Given the description of an element on the screen output the (x, y) to click on. 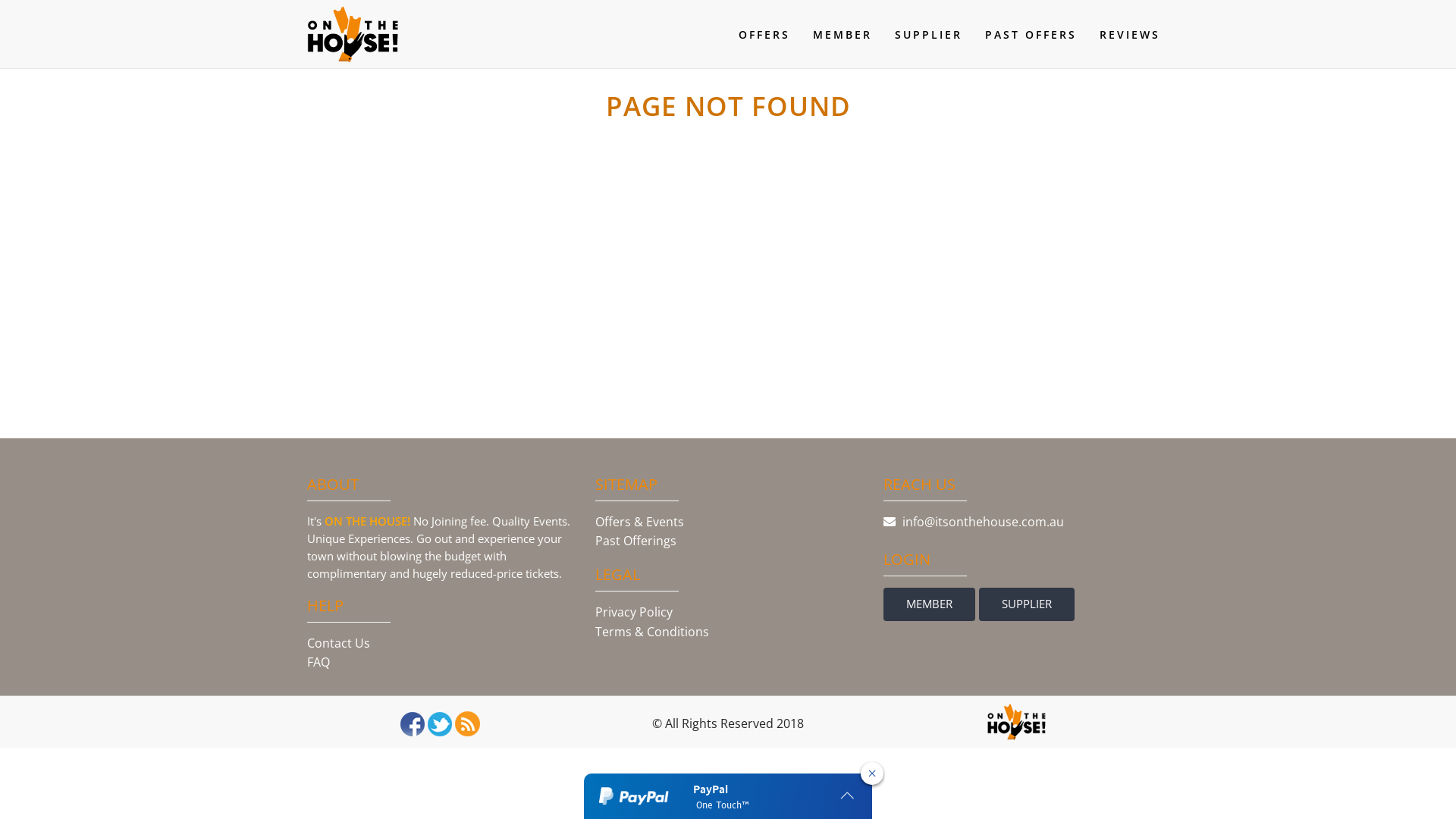
MEMBER Element type: text (842, 34)
SUPPLIER Element type: text (928, 34)
Offers & Events Element type: text (639, 521)
PAST OFFERS Element type: text (1030, 34)
OFFERS Element type: text (764, 34)
Contact Us Element type: text (338, 642)
Privacy Policy Element type: text (633, 611)
Terms & Conditions Element type: text (652, 631)
MEMBER Element type: text (929, 604)
Past Offerings Element type: text (635, 540)
FAQ Element type: text (318, 661)
REVIEWS Element type: text (1129, 34)
SUPPLIER Element type: text (1026, 604)
info@itsonthehouse.com.au Element type: text (1015, 532)
